Given the description of an element on the screen output the (x, y) to click on. 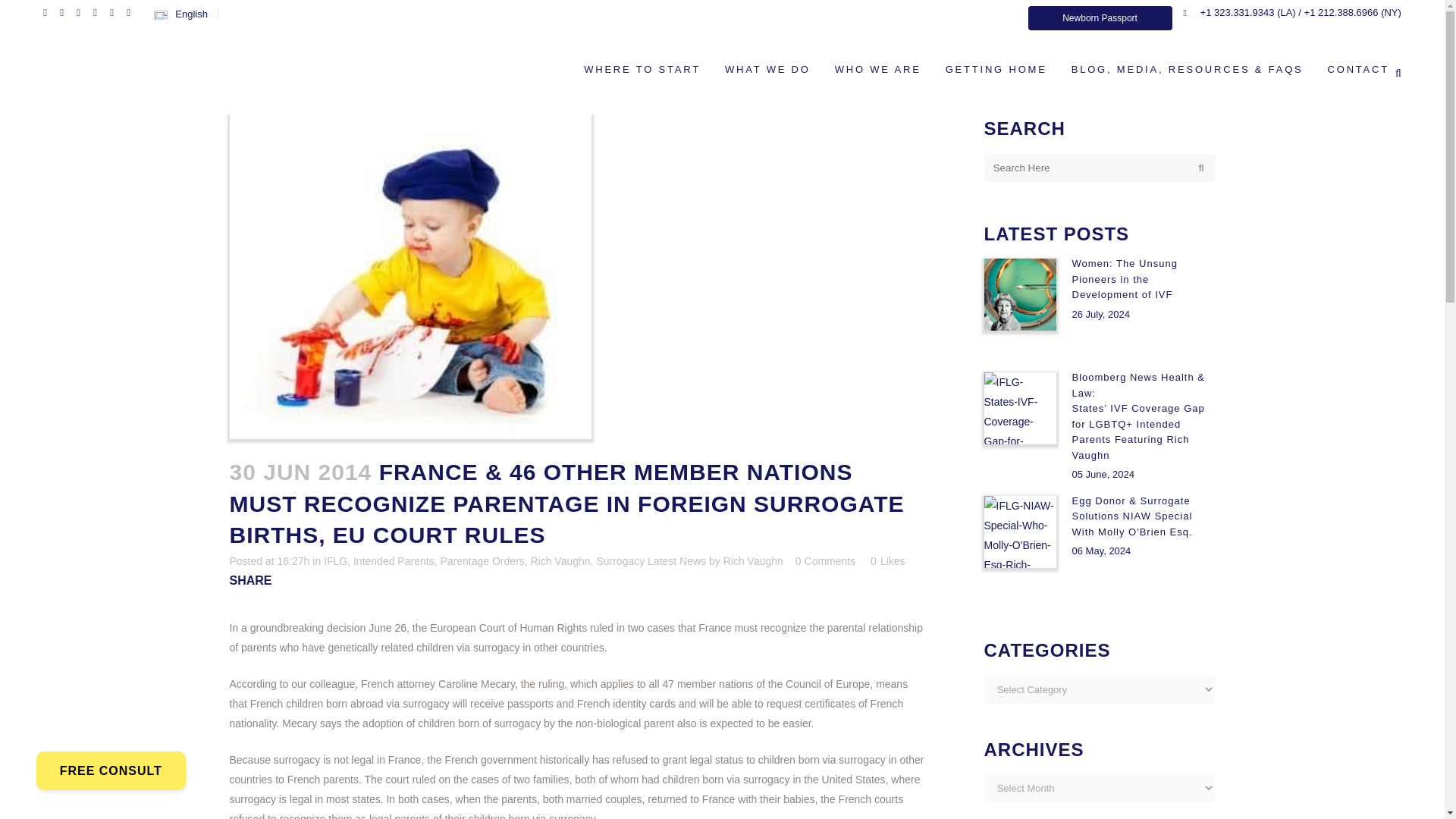
WHO WE ARE (877, 69)
GETTING HOME (996, 69)
WHERE TO START (642, 69)
Where To Start (642, 69)
WHAT WE DO (767, 69)
Who We Are (877, 69)
What We Do (767, 69)
English (181, 13)
Newborn Passport (1099, 17)
Newborn Passport (1099, 17)
